Given the description of an element on the screen output the (x, y) to click on. 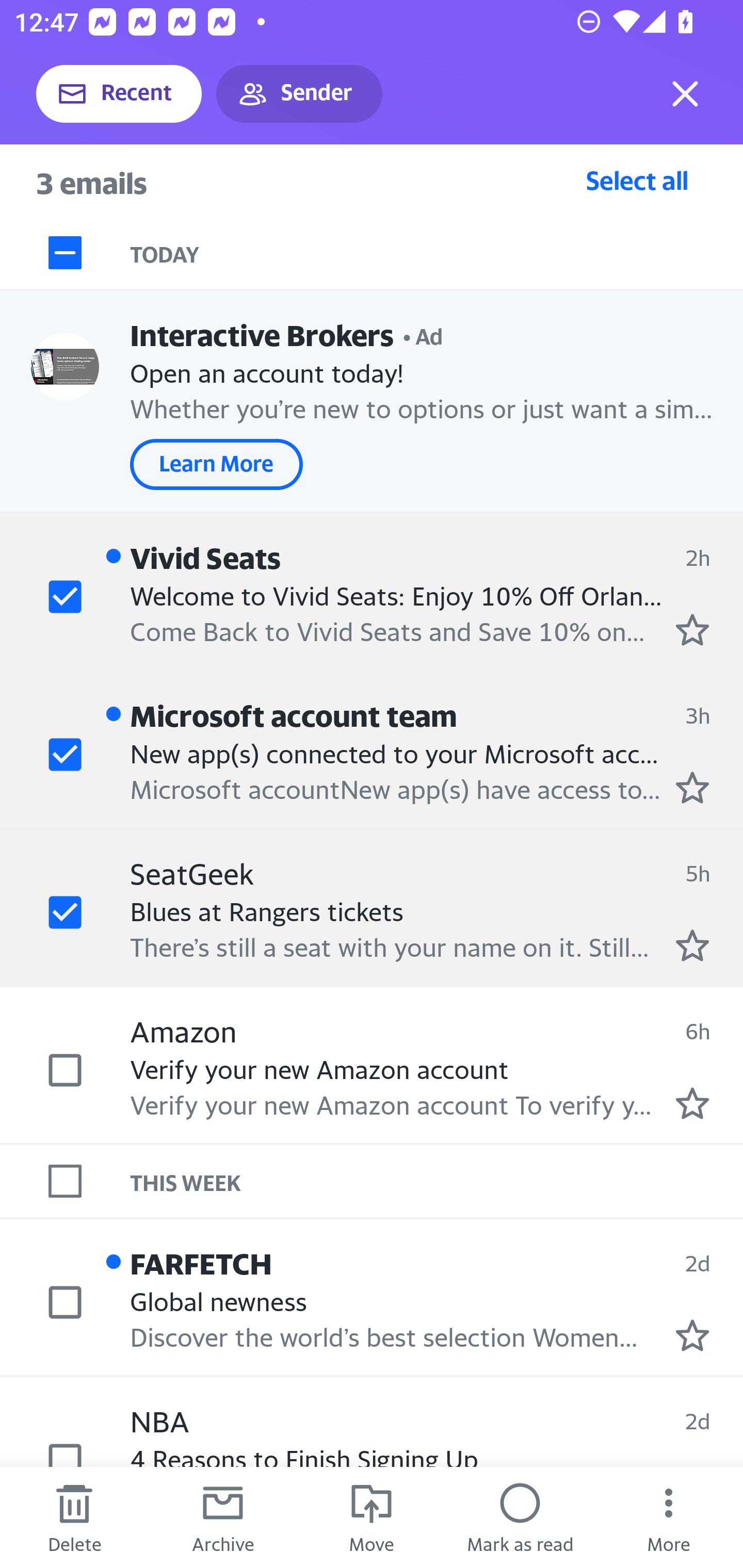
Sender (299, 93)
Exit selection mode (684, 93)
Select all (637, 180)
TODAY (436, 252)
Mark as starred. (692, 629)
Mark as starred. (692, 787)
Mark as starred. (692, 944)
Mark as starred. (692, 1103)
THIS WEEK (436, 1181)
Mark as starred. (692, 1335)
Delete (74, 1517)
Archive (222, 1517)
Move (371, 1517)
Mark as read (519, 1517)
More (668, 1517)
